Given the description of an element on the screen output the (x, y) to click on. 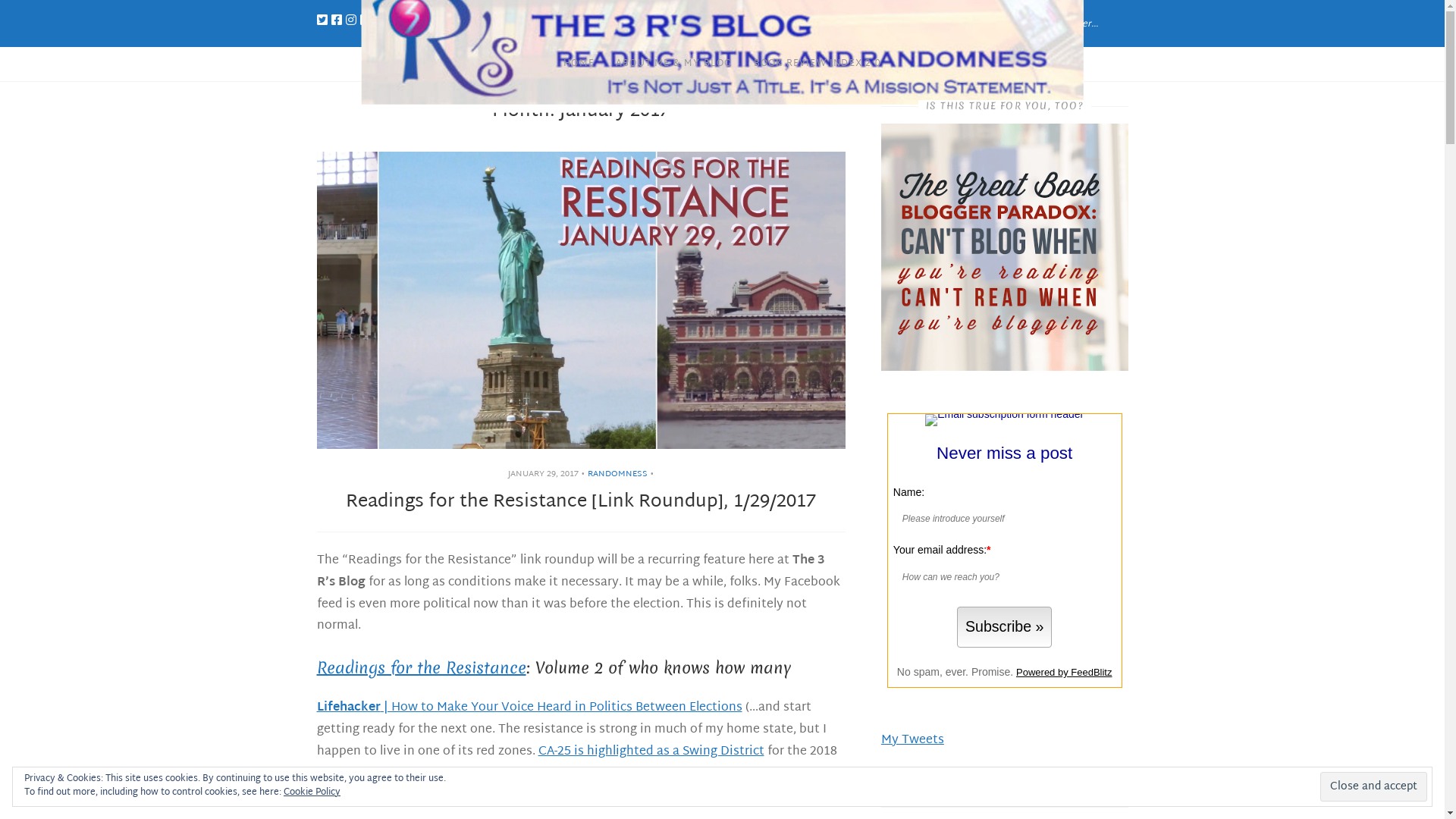
How can we reach you? Element type: hover (1000, 576)
Search Element type: text (1141, 17)
The 3 R's: Reading, 'Riting, and Randomness Element type: text (668, 129)
Cookie Policy Element type: text (311, 792)
Please introduce yourself Element type: hover (1000, 518)
My Tweets Element type: text (912, 740)
RANDOMNESS Element type: text (617, 473)
Powered by FeedBlitz Element type: text (1063, 671)
click to join Element type: hover (1004, 627)
ABOUT ME & MY BLOG Element type: text (673, 64)
HOME Element type: text (578, 64)
BOOK REVIEW INDEX 2.0 Element type: text (817, 64)
Close and accept Element type: text (1373, 786)
CA-25 is highlighted as a Swing District Element type: text (651, 751)
Readings for the Resistance [Link Roundup], 1/29/2017 Element type: text (580, 501)
Readings for the Resistance Element type: text (421, 667)
